Given the description of an element on the screen output the (x, y) to click on. 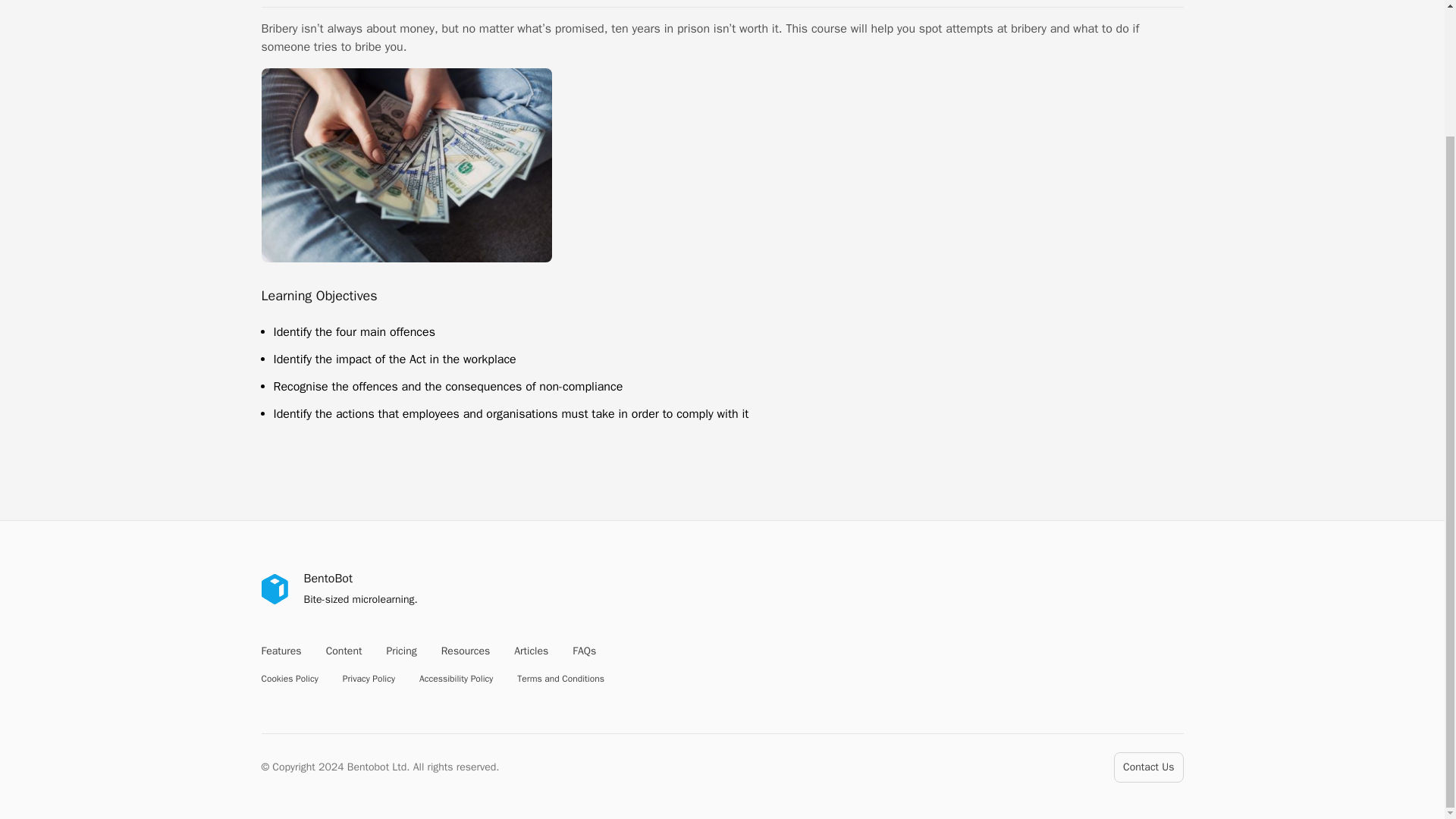
Content (344, 651)
Terms and Conditions (560, 678)
Cookies Policy (288, 678)
Features (280, 651)
Articles (531, 651)
FAQs (584, 651)
Accessibility Policy (456, 678)
Contact Us (1147, 767)
Privacy Policy (368, 678)
Pricing (401, 651)
Resources (465, 651)
